Given the description of an element on the screen output the (x, y) to click on. 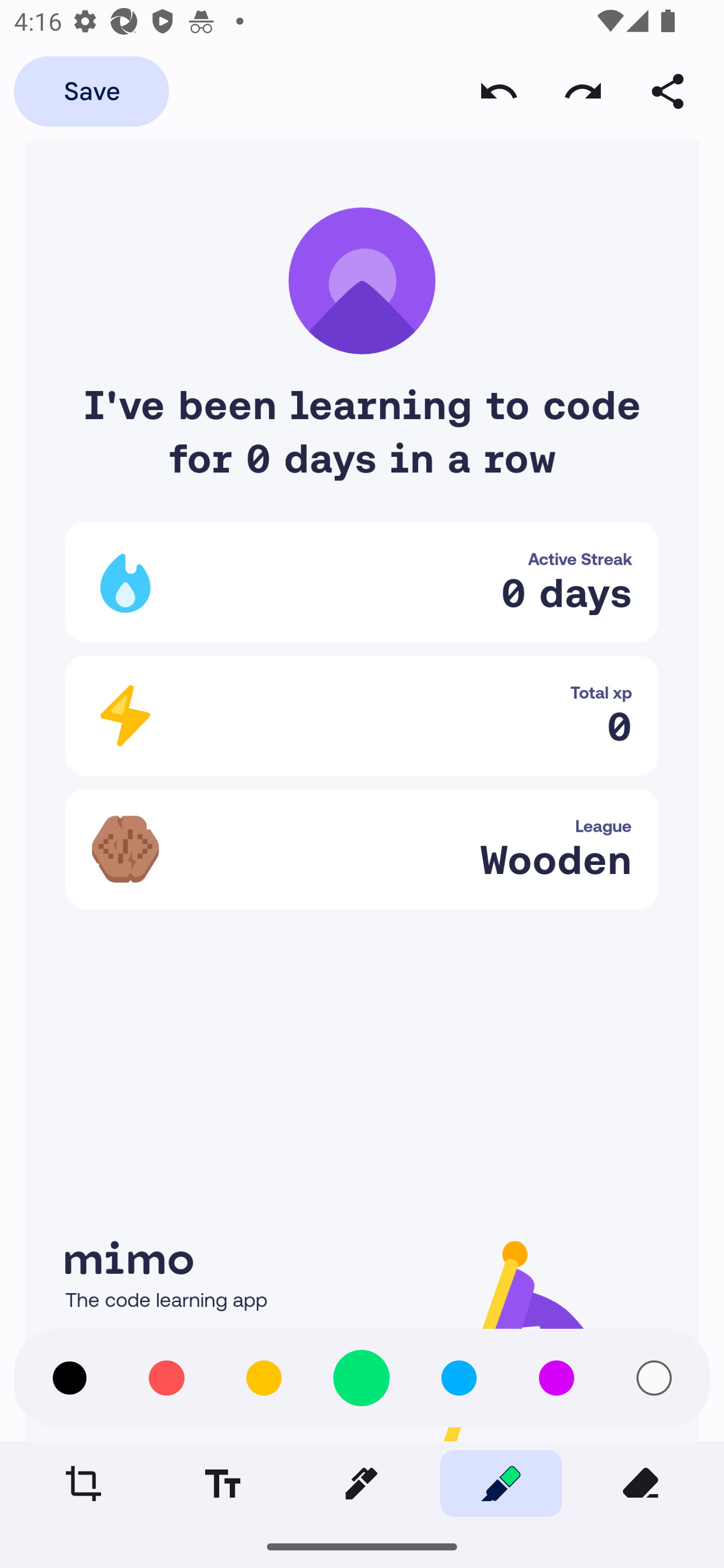
Save (90, 90)
Undo (498, 90)
Redo (582, 90)
Share (667, 90)
Black (69, 1377)
Red (166, 1377)
Yellow (263, 1377)
Blue (458, 1377)
Purple (556, 1377)
White (654, 1377)
Crop (82, 1482)
Text (221, 1482)
Pen (361, 1482)
Eraser (640, 1482)
